Given the description of an element on the screen output the (x, y) to click on. 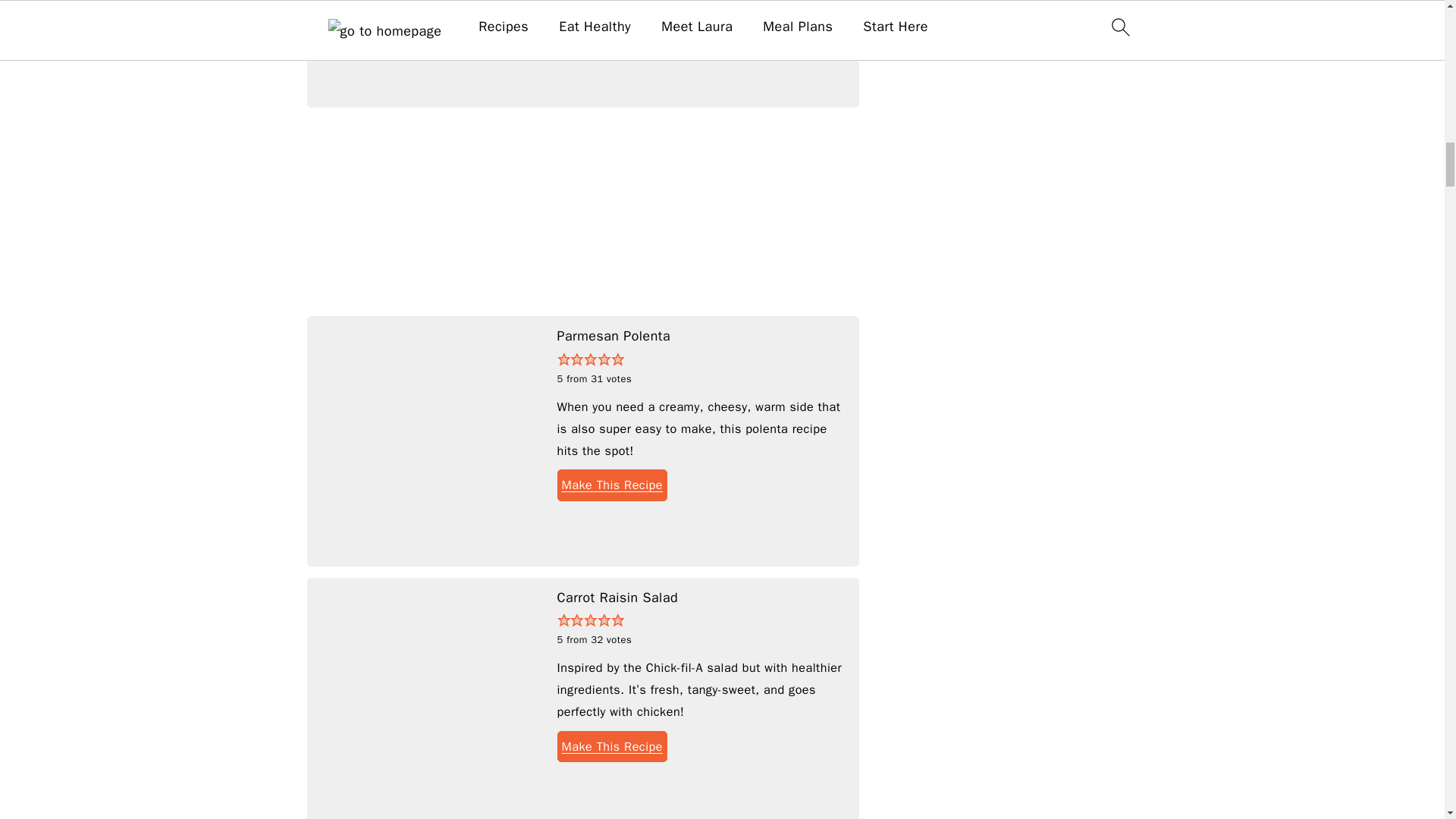
Make This Recipe (611, 746)
Make This Recipe (611, 484)
Make This Recipe (611, 10)
